Given the description of an element on the screen output the (x, y) to click on. 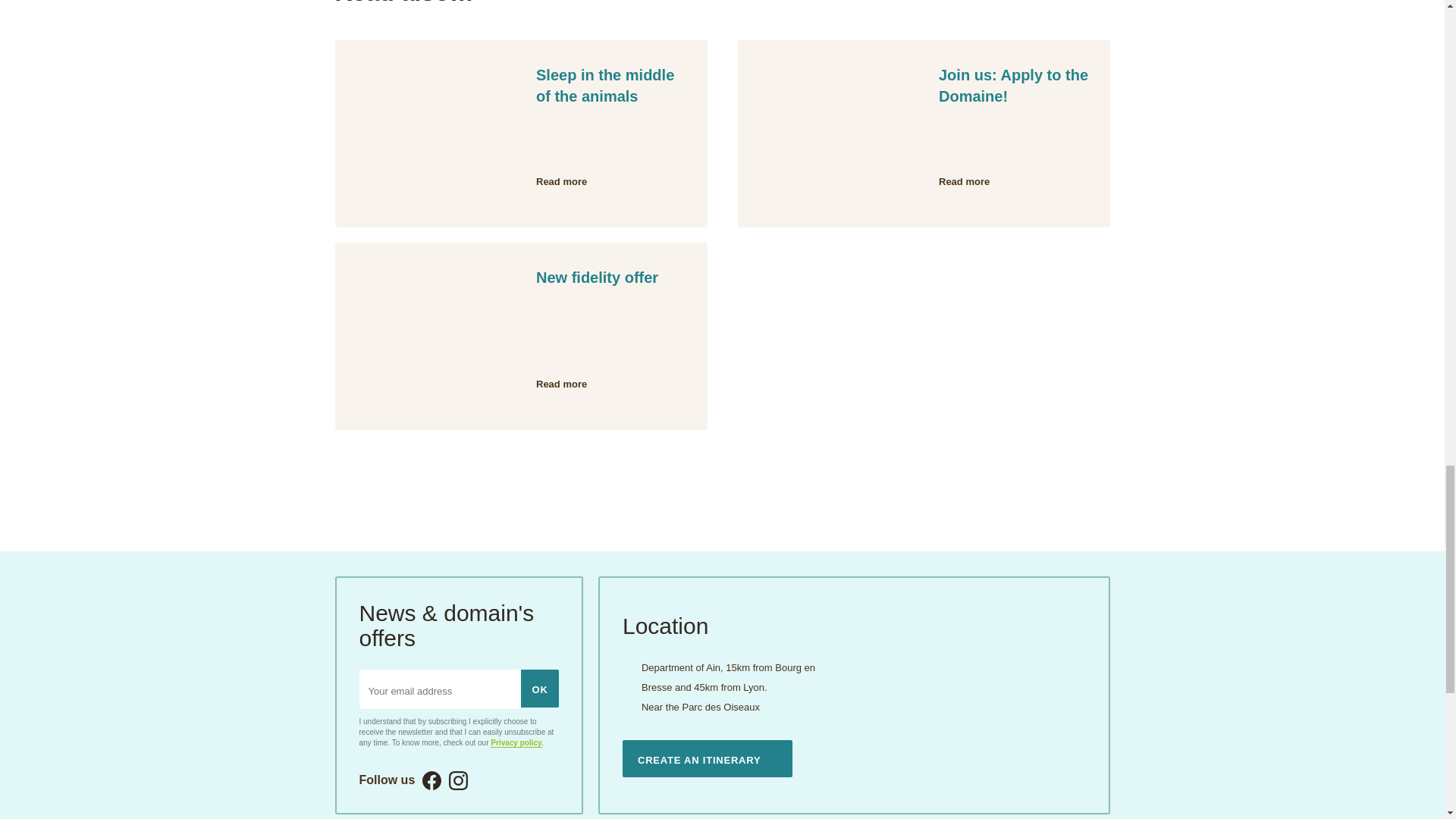
OK (540, 688)
OK (540, 688)
Visitez notre Instagram. Ouverture dans un nouvel onglet (520, 133)
Privacy policy (922, 133)
Visitez notre page Facebook. Ouverture dans un nouvel onglet (457, 780)
